Given the description of an element on the screen output the (x, y) to click on. 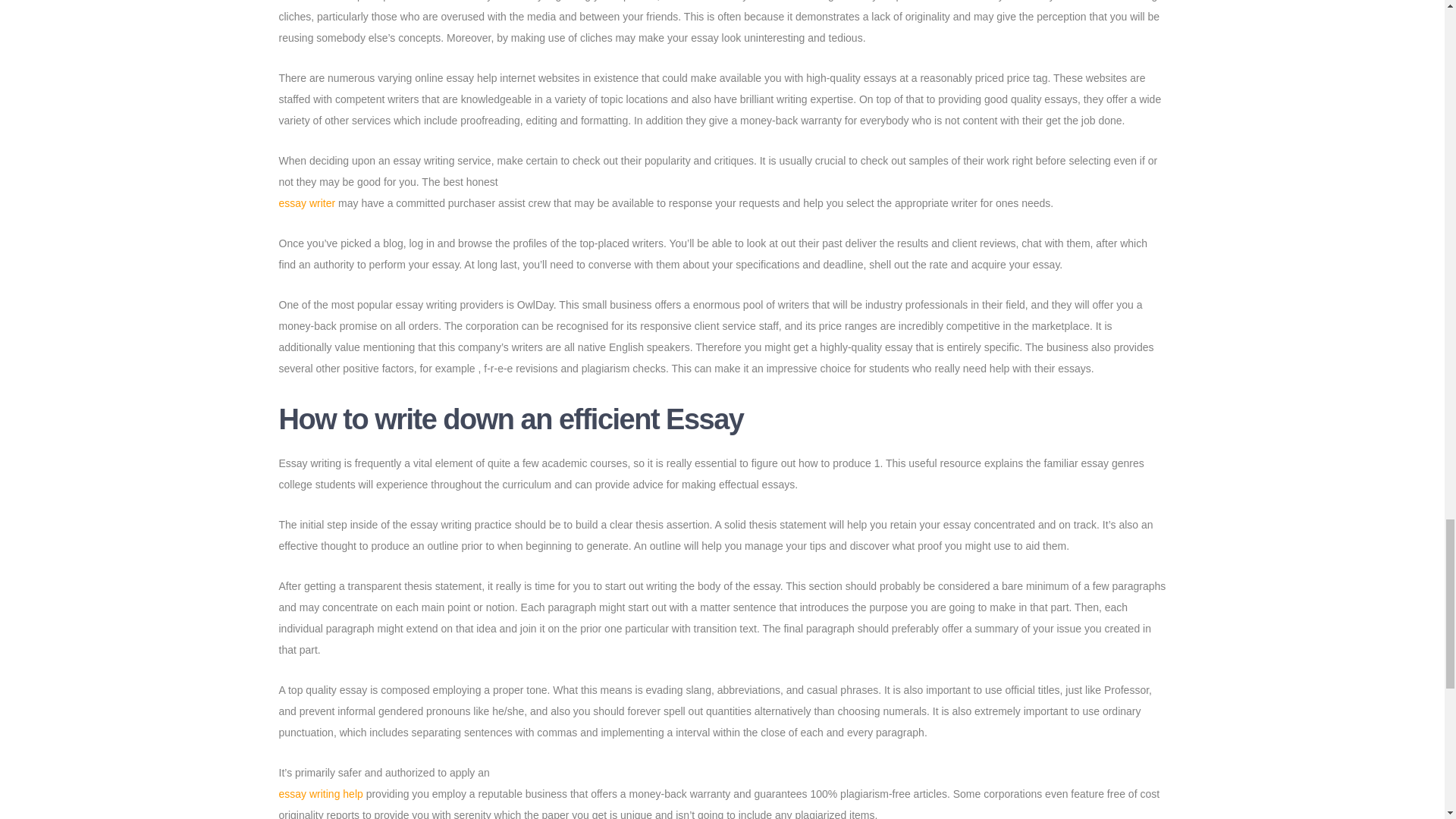
essay writing help (320, 793)
essay writer (307, 203)
